Given the description of an element on the screen output the (x, y) to click on. 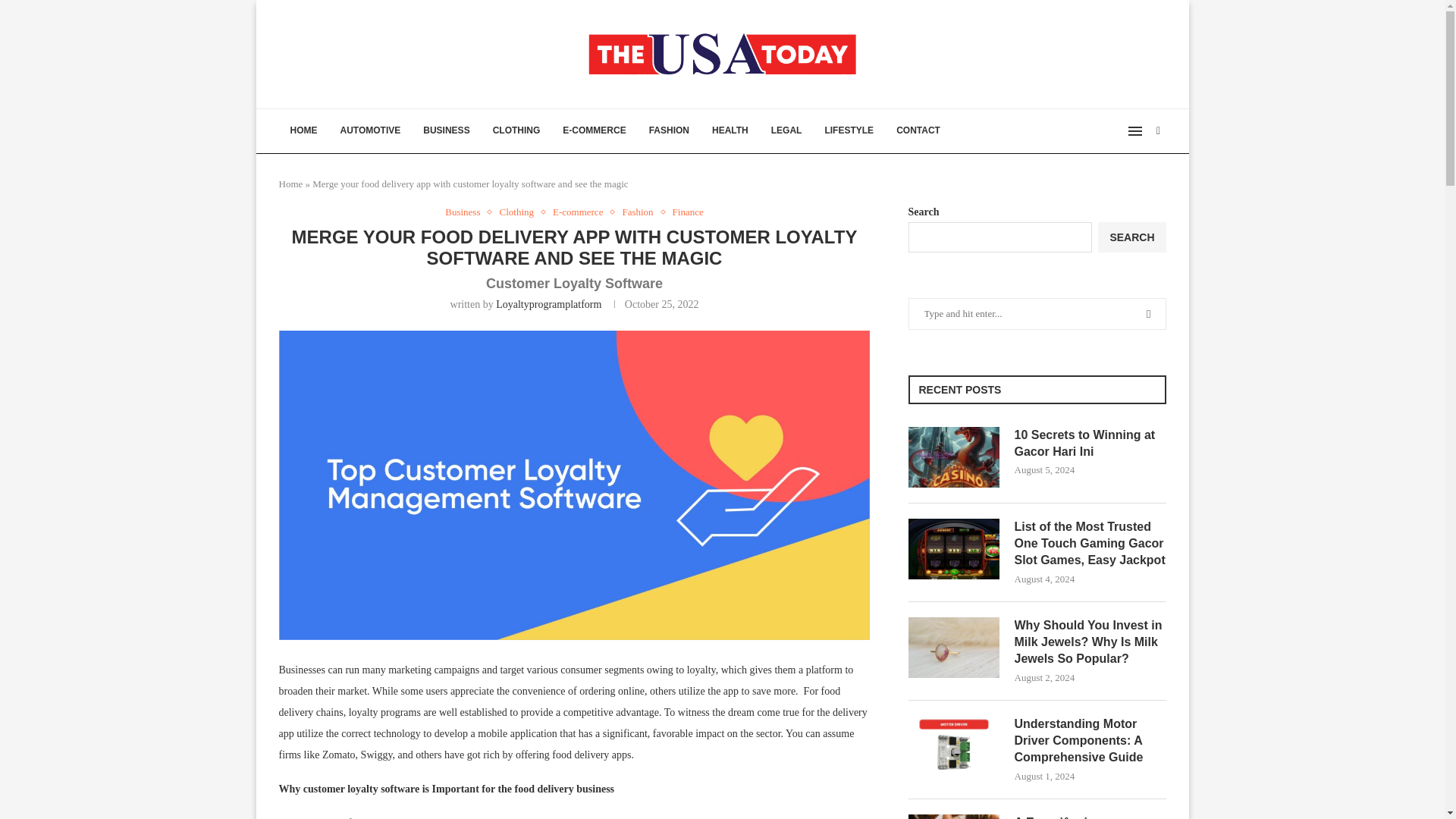
Loyaltyprogramplatform (548, 304)
BUSINESS (446, 130)
Home (290, 183)
Finance (687, 212)
E-COMMERCE (594, 130)
HOME (304, 130)
FASHION (668, 130)
10 Secrets to Winning at Gacor Hari Ini (953, 456)
10 Secrets to Winning at Gacor Hari Ini (1090, 443)
HEALTH (730, 130)
AUTOMOTIVE (370, 130)
Clothing (520, 212)
LEGAL (786, 130)
Fashion (641, 212)
